Given the description of an element on the screen output the (x, y) to click on. 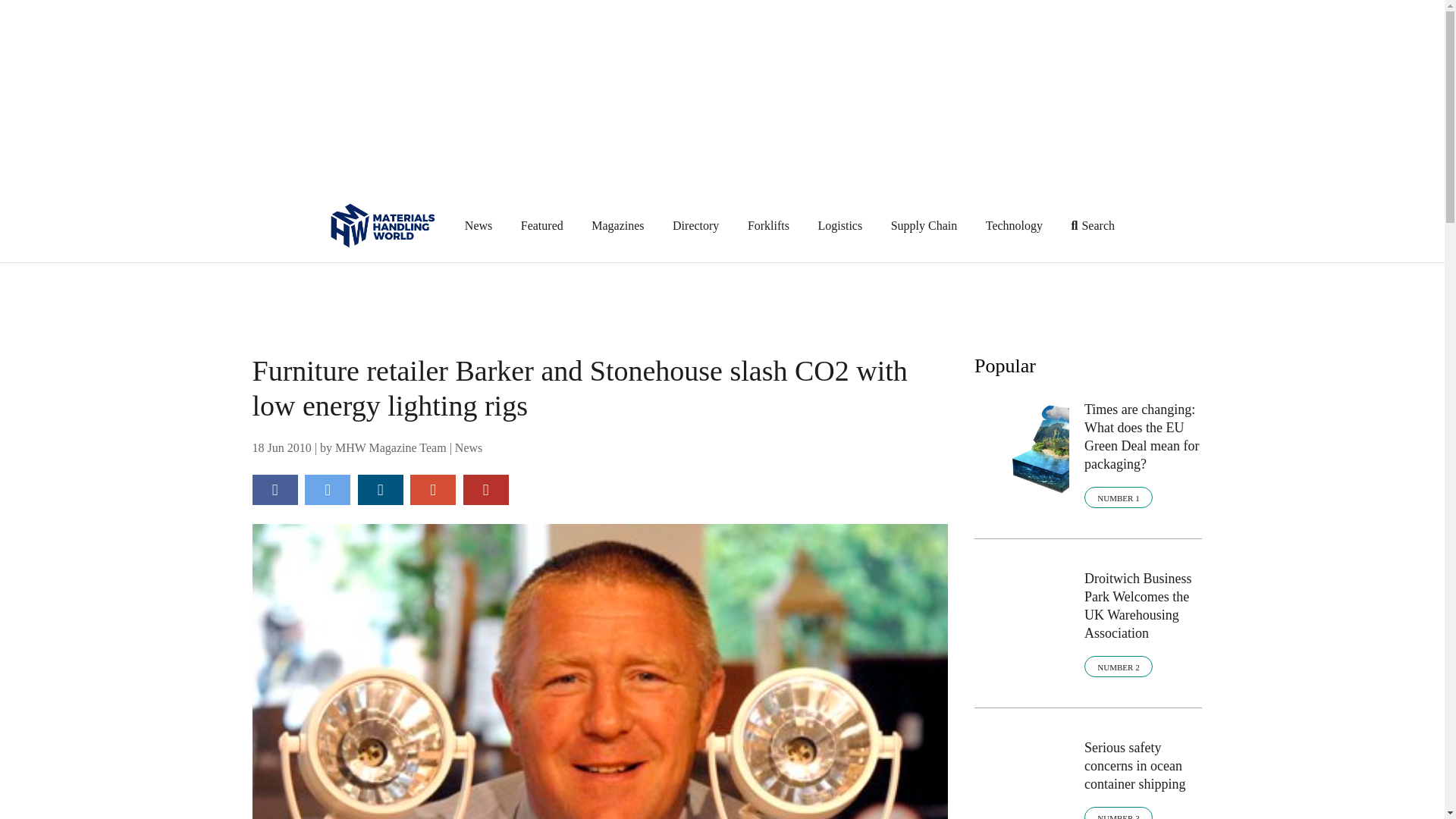
3rd party ad content (722, 296)
Magazines (617, 225)
Search (1093, 225)
Supply Chain (924, 225)
Forklifts (768, 225)
Share by Email (432, 490)
Serious safety concerns in ocean container shipping (1143, 765)
Print (485, 490)
News (467, 447)
